Given the description of an element on the screen output the (x, y) to click on. 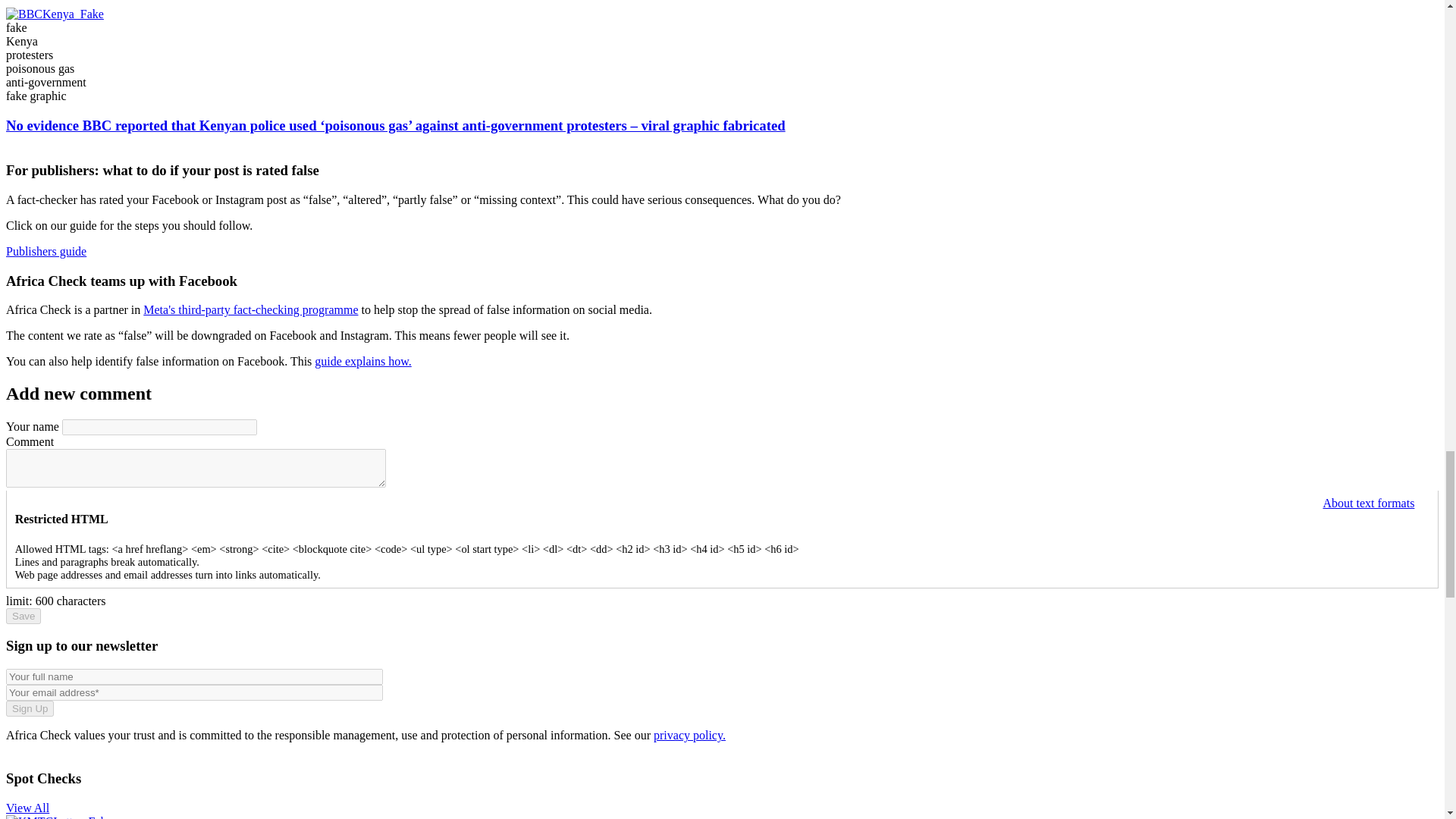
Sign Up (29, 708)
Save (22, 616)
